Given the description of an element on the screen output the (x, y) to click on. 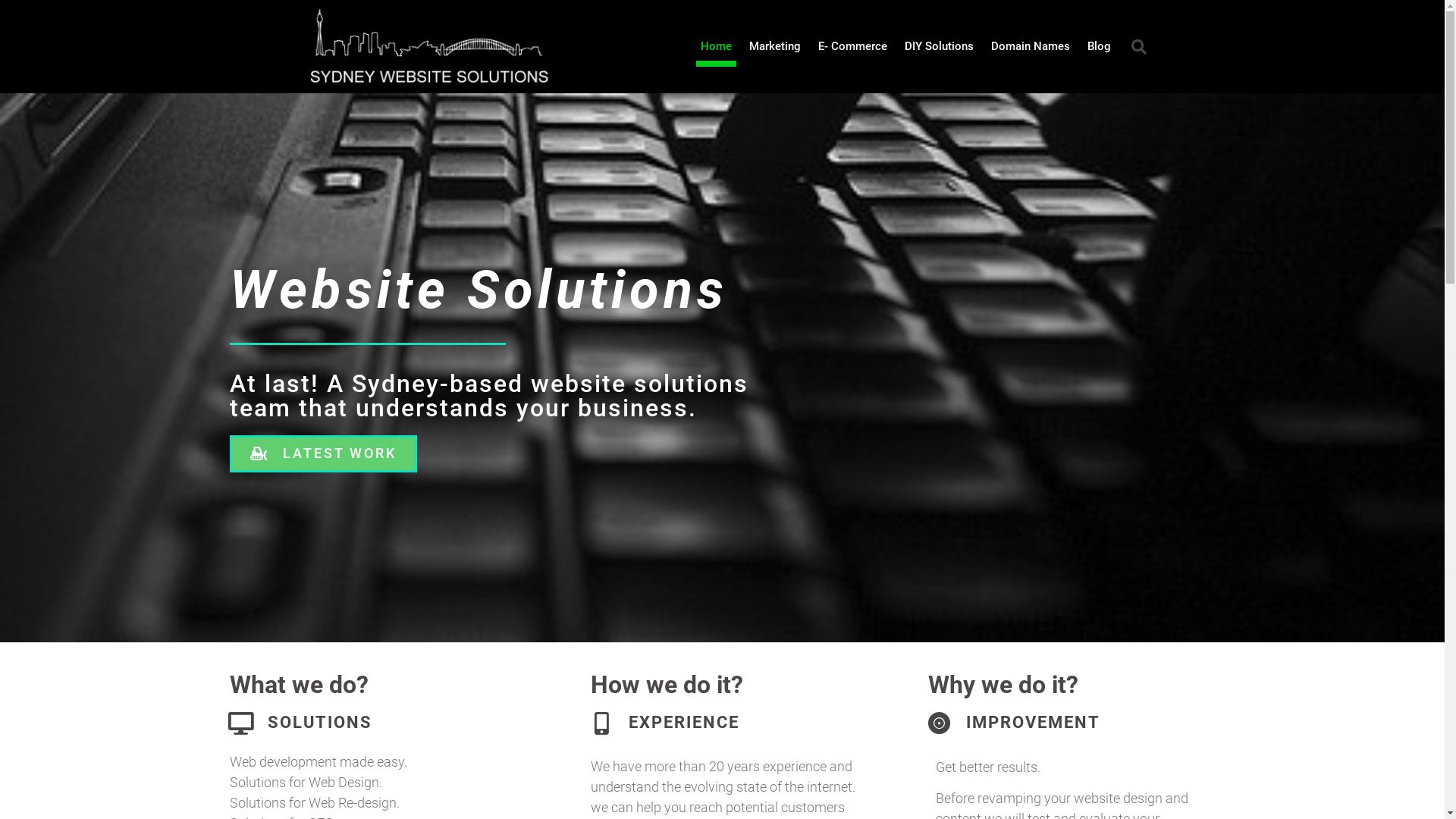
Blog Element type: text (1098, 46)
Marketing Element type: text (774, 46)
Domain Names Element type: text (1029, 46)
Home Element type: text (716, 46)
E- Commerce Element type: text (851, 46)
LATEST WORK Element type: text (322, 453)
DIY Solutions Element type: text (938, 46)
